Given the description of an element on the screen output the (x, y) to click on. 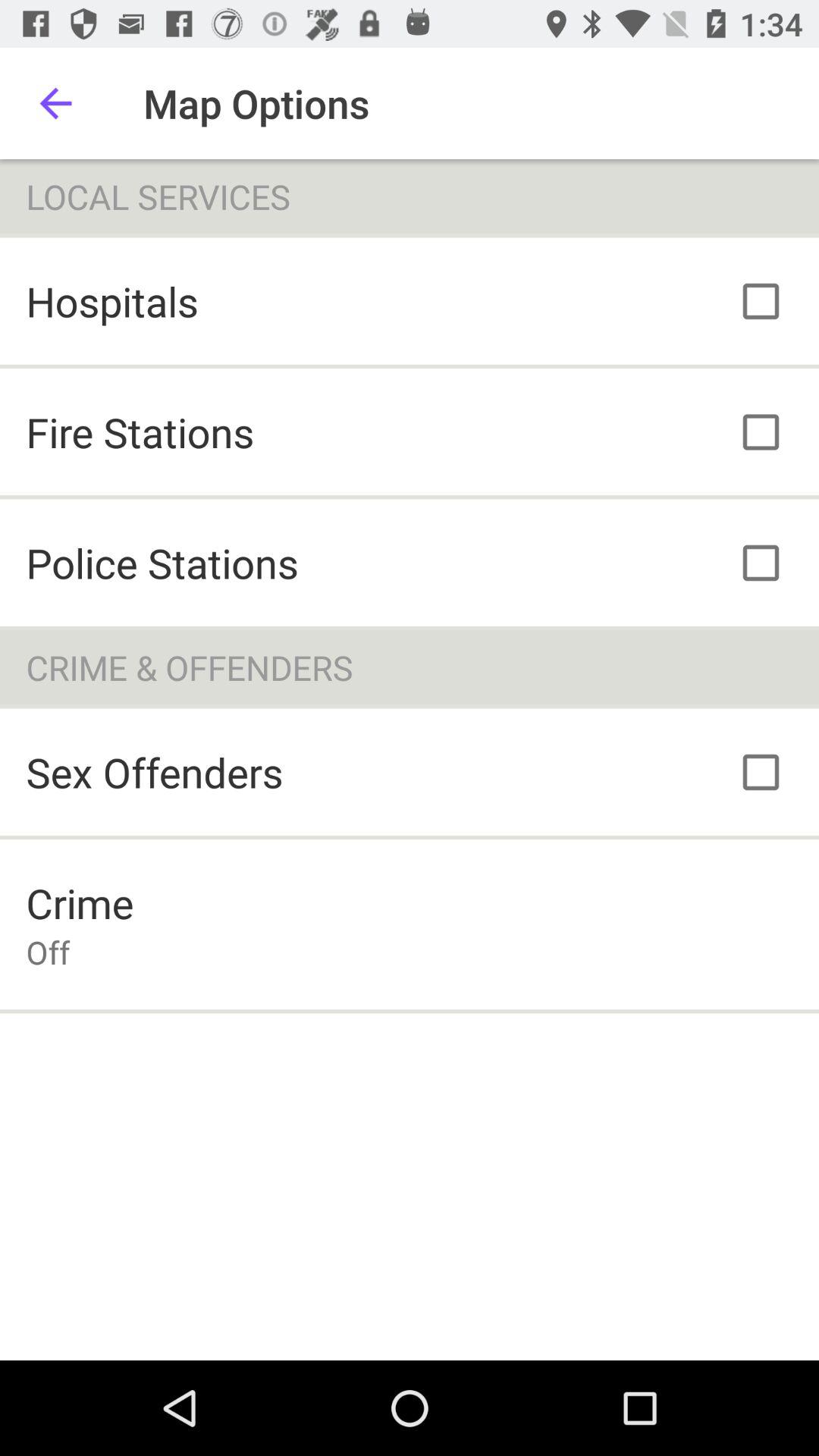
press icon to the left of map options (55, 103)
